Given the description of an element on the screen output the (x, y) to click on. 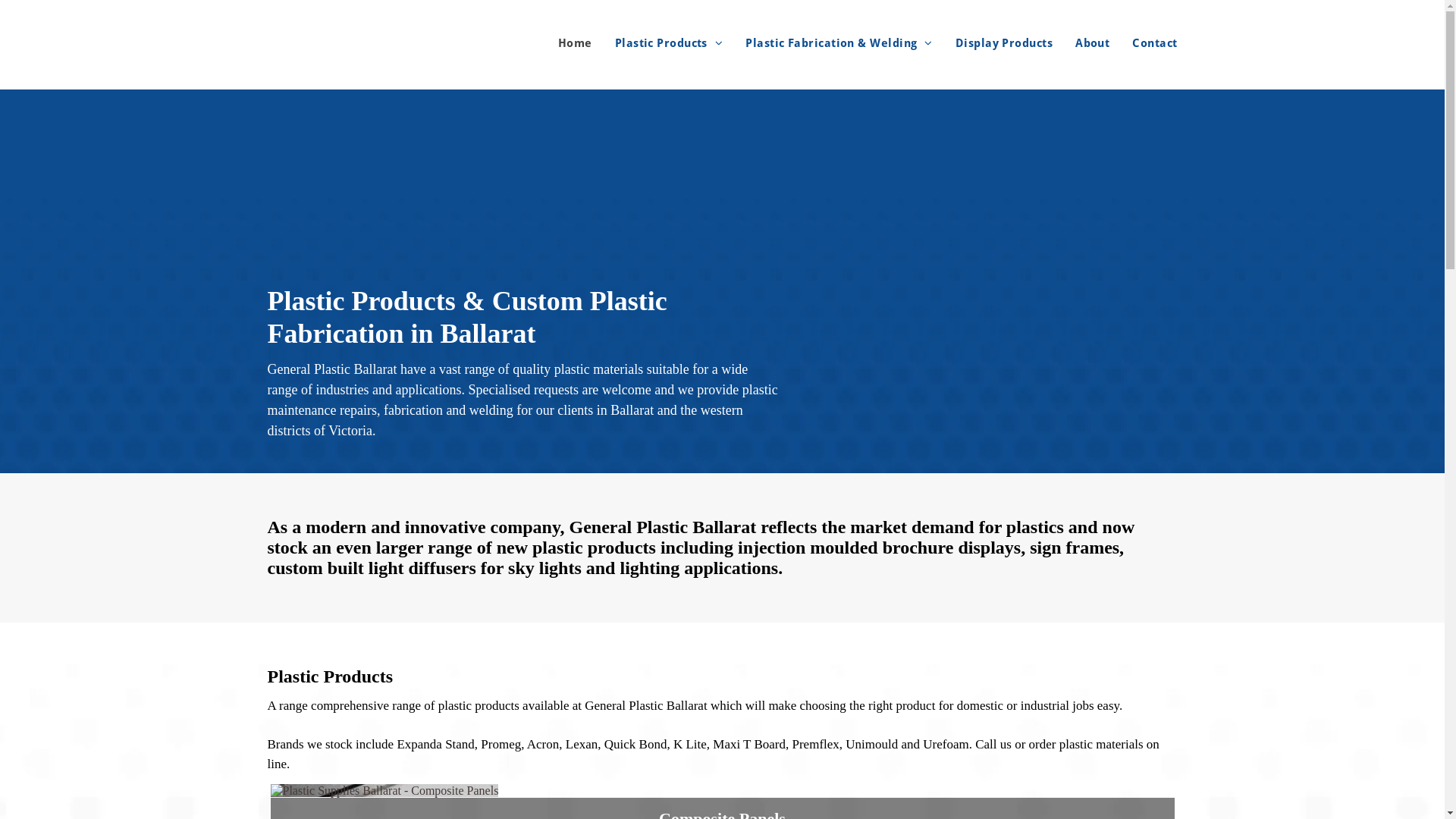
Home Element type: text (563, 42)
Plastic Fabrication & Welding Element type: text (827, 42)
About Element type: text (1080, 42)
Display Products Element type: text (992, 42)
Contact Element type: text (1142, 42)
Plastic Products Element type: text (657, 42)
